Given the description of an element on the screen output the (x, y) to click on. 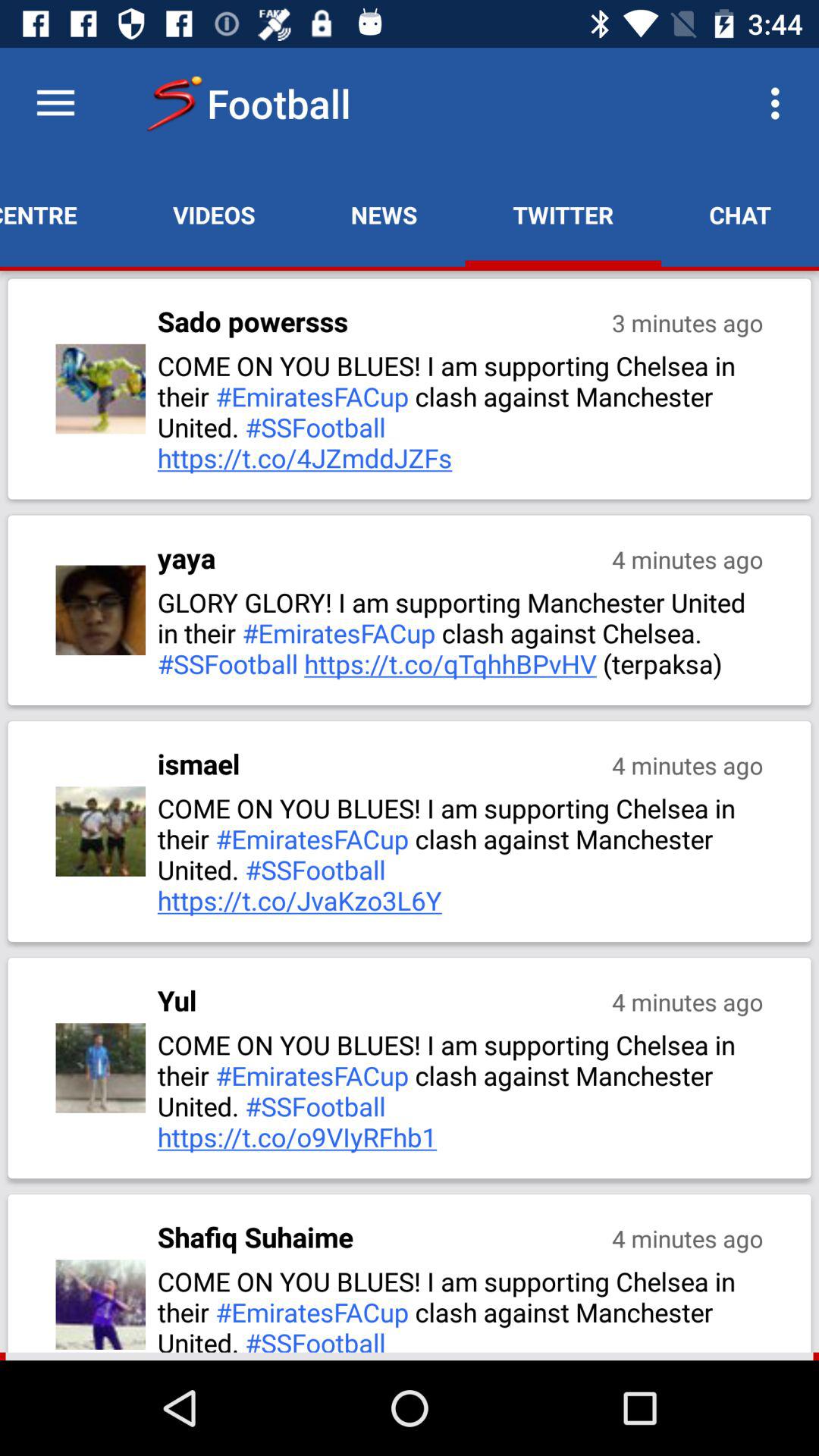
show menu (55, 103)
